Given the description of an element on the screen output the (x, y) to click on. 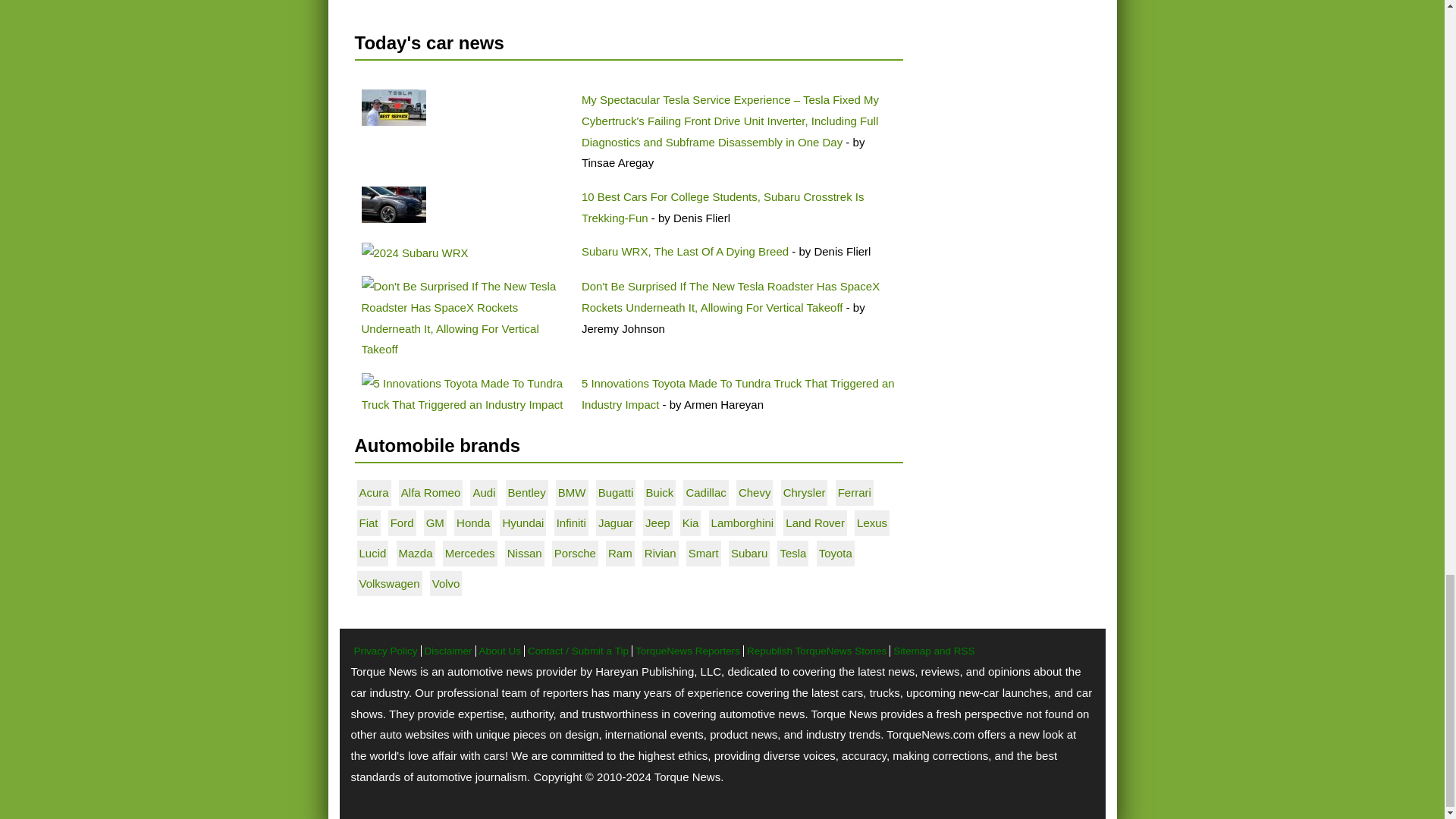
Two 2024 Subaru WRX models side by side (414, 252)
Acura (373, 492)
2024 Subaru Crosstrek front end view (393, 204)
Audi (483, 492)
Bentley (527, 492)
Alfa Romeo (430, 492)
